Given the description of an element on the screen output the (x, y) to click on. 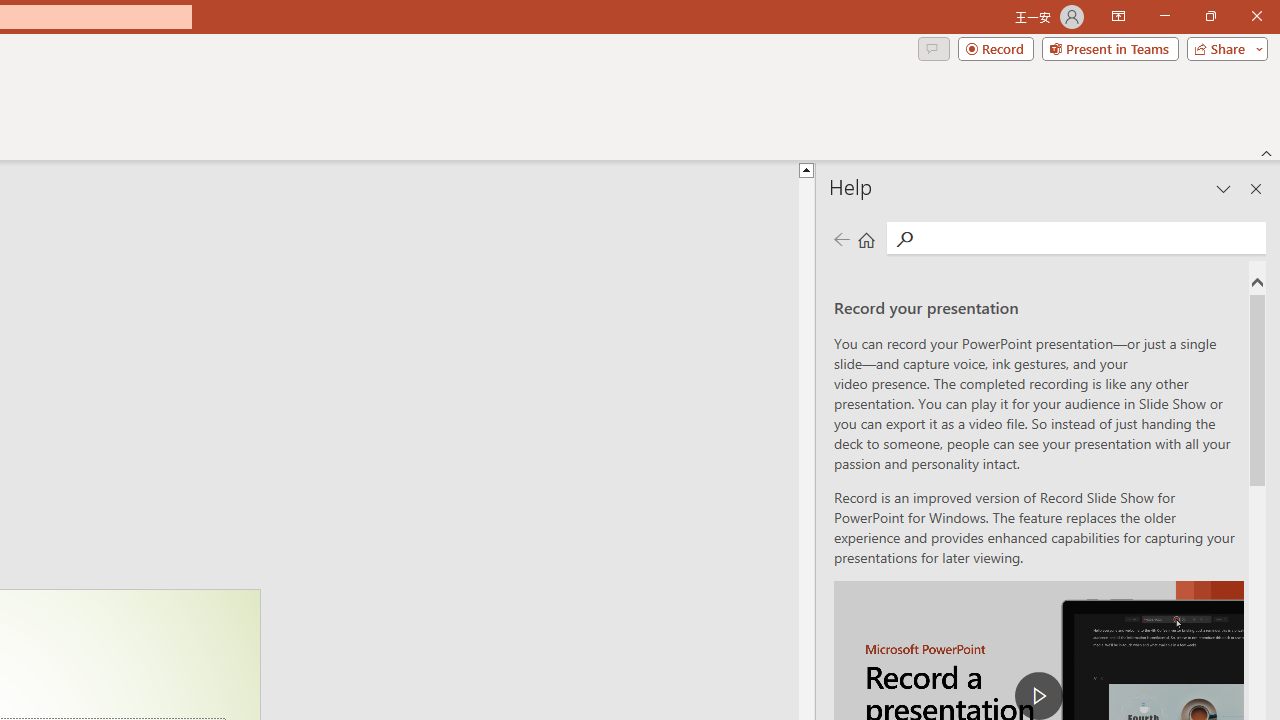
Line up (806, 169)
Close pane (1256, 188)
Search (904, 238)
play Record a Presentation (1038, 695)
Task Pane Options (1224, 188)
